Given the description of an element on the screen output the (x, y) to click on. 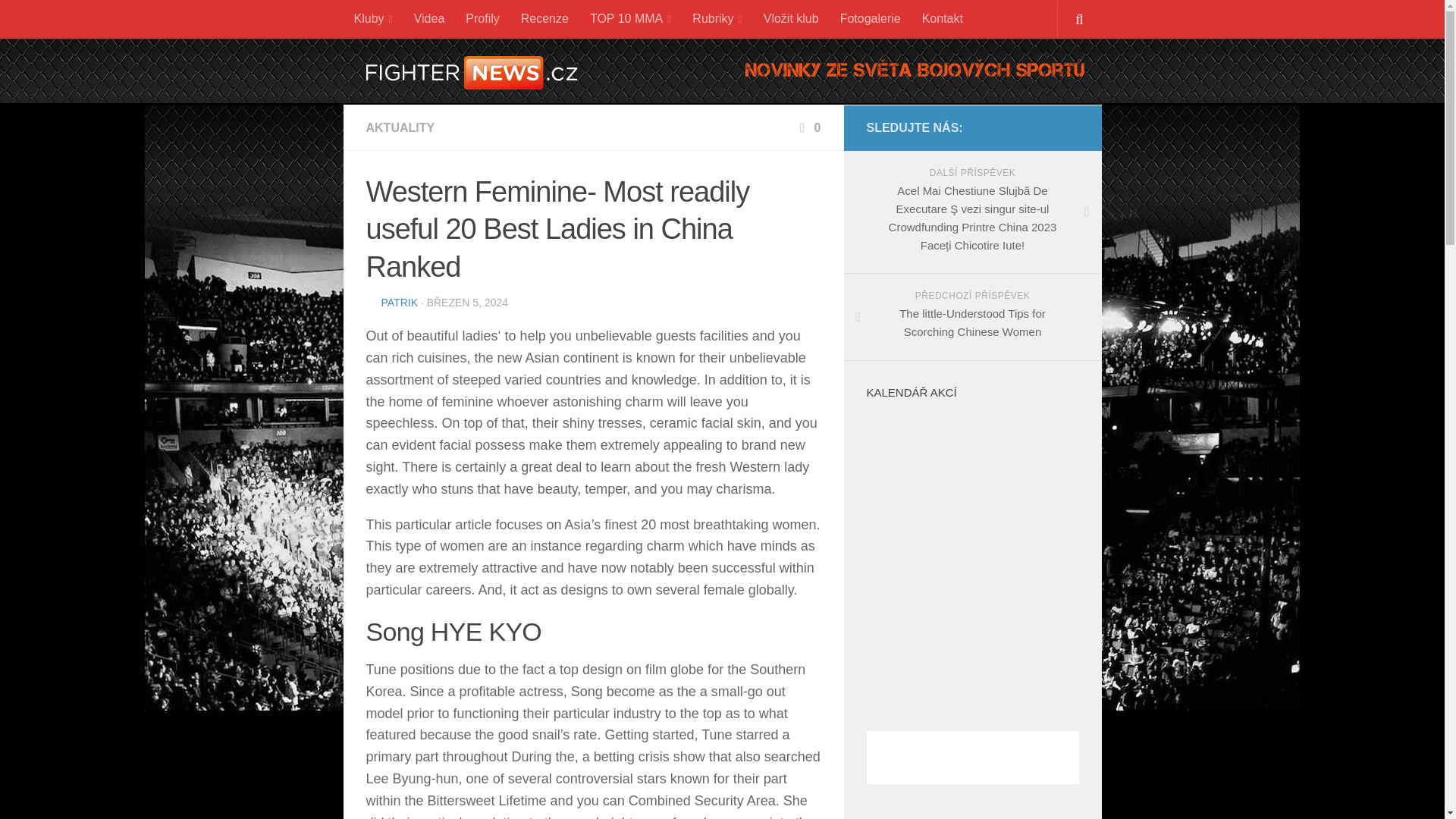
Kluby (372, 19)
Kontakt (942, 18)
Recenze (545, 18)
TOP 10 MMA (630, 19)
Videa (429, 18)
Profily (481, 18)
AKTUALITY (399, 127)
Rubriky (716, 19)
Fotogalerie (870, 18)
